Given the description of an element on the screen output the (x, y) to click on. 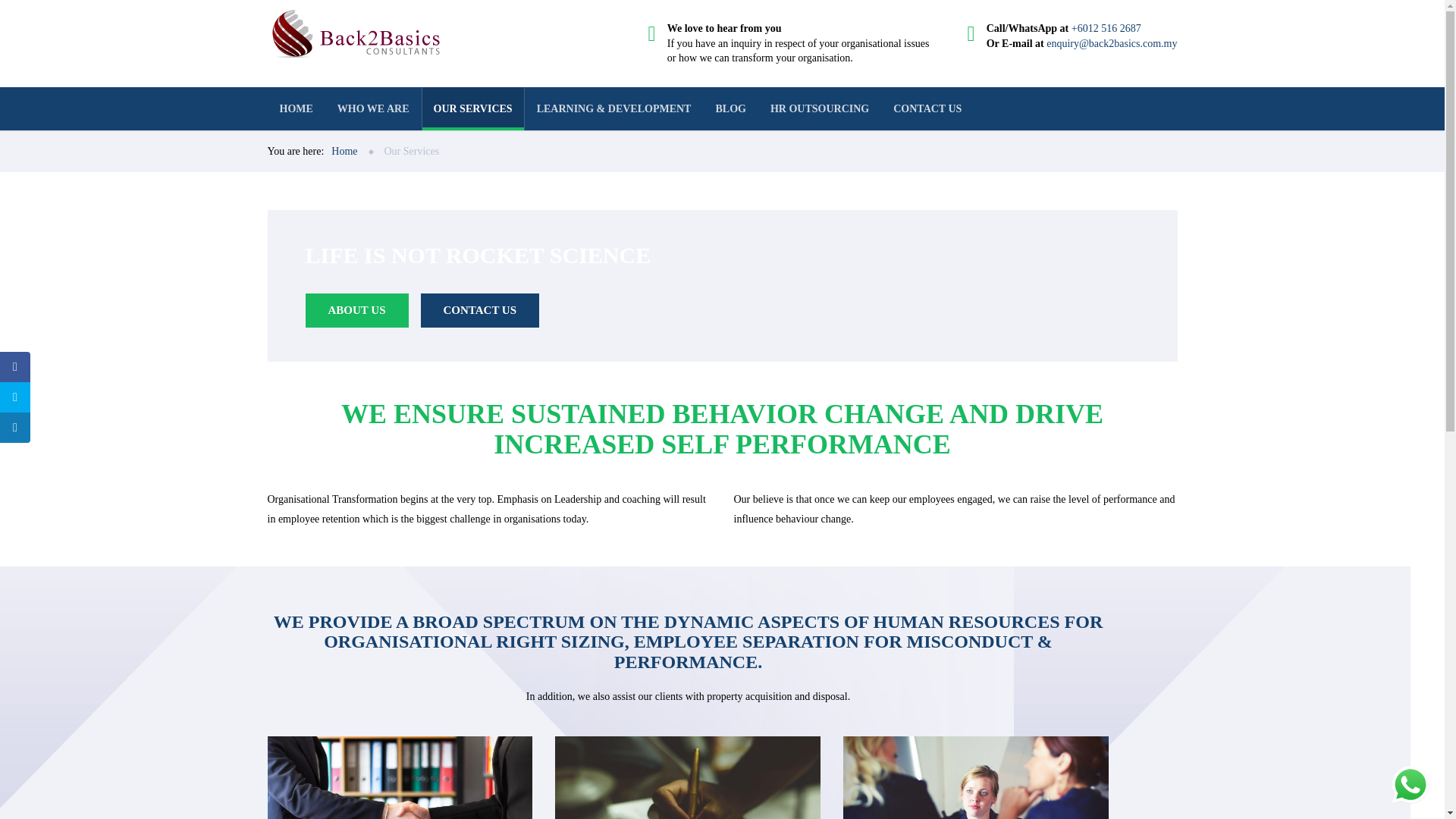
Talent Management website (975, 777)
HOME (295, 108)
OUR SERVICES (473, 108)
CONTACT US (927, 108)
WhatsApp us (1410, 784)
WHO WE ARE (373, 108)
photo-of-two-people-shakehands-2058130 (399, 777)
Hr audit (687, 777)
BLOG (730, 108)
HR OUTSOURCING (819, 108)
